Given the description of an element on the screen output the (x, y) to click on. 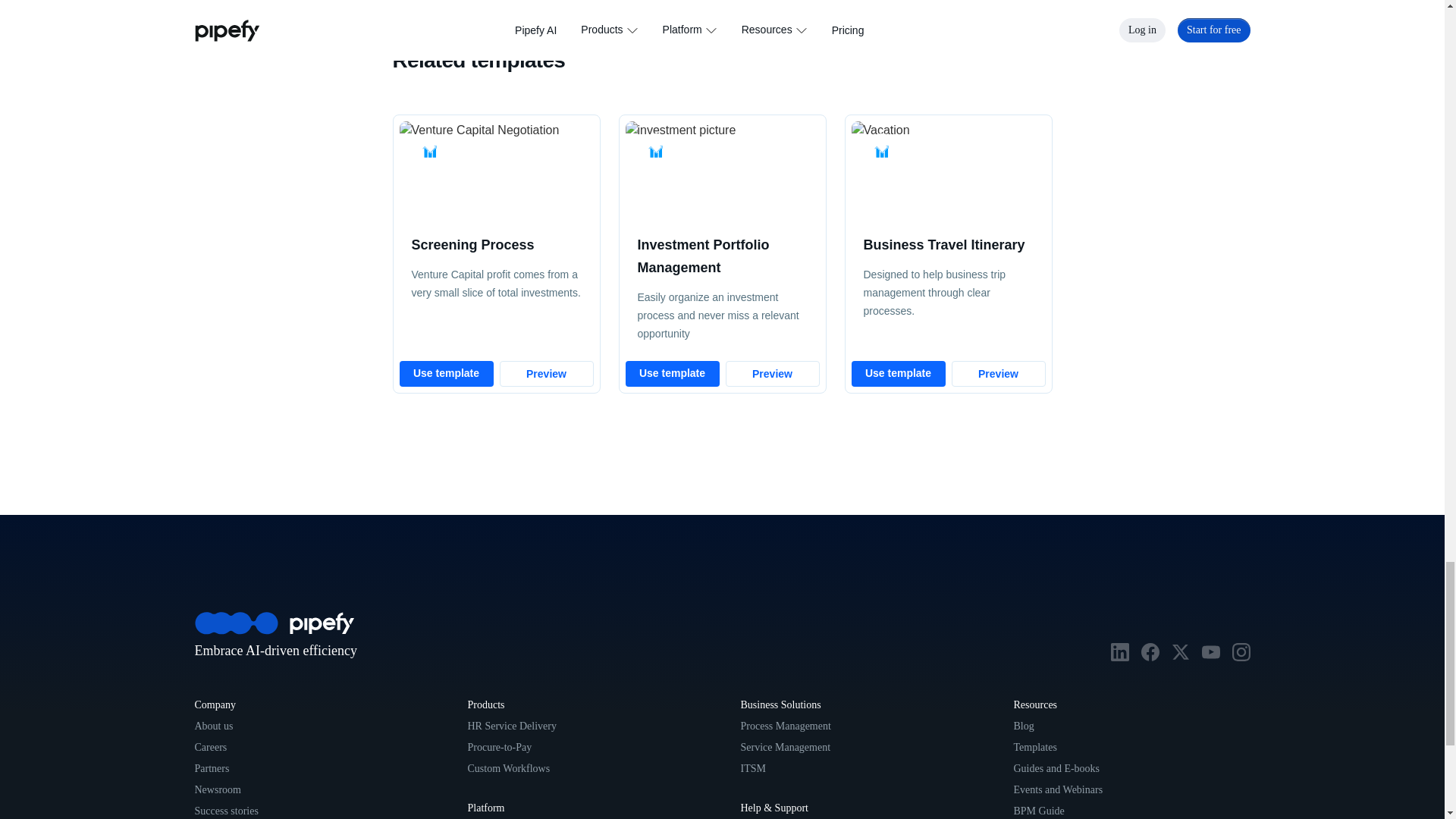
Preview (771, 373)
Use template (445, 373)
Preview (545, 373)
Use template (671, 373)
